Given the description of an element on the screen output the (x, y) to click on. 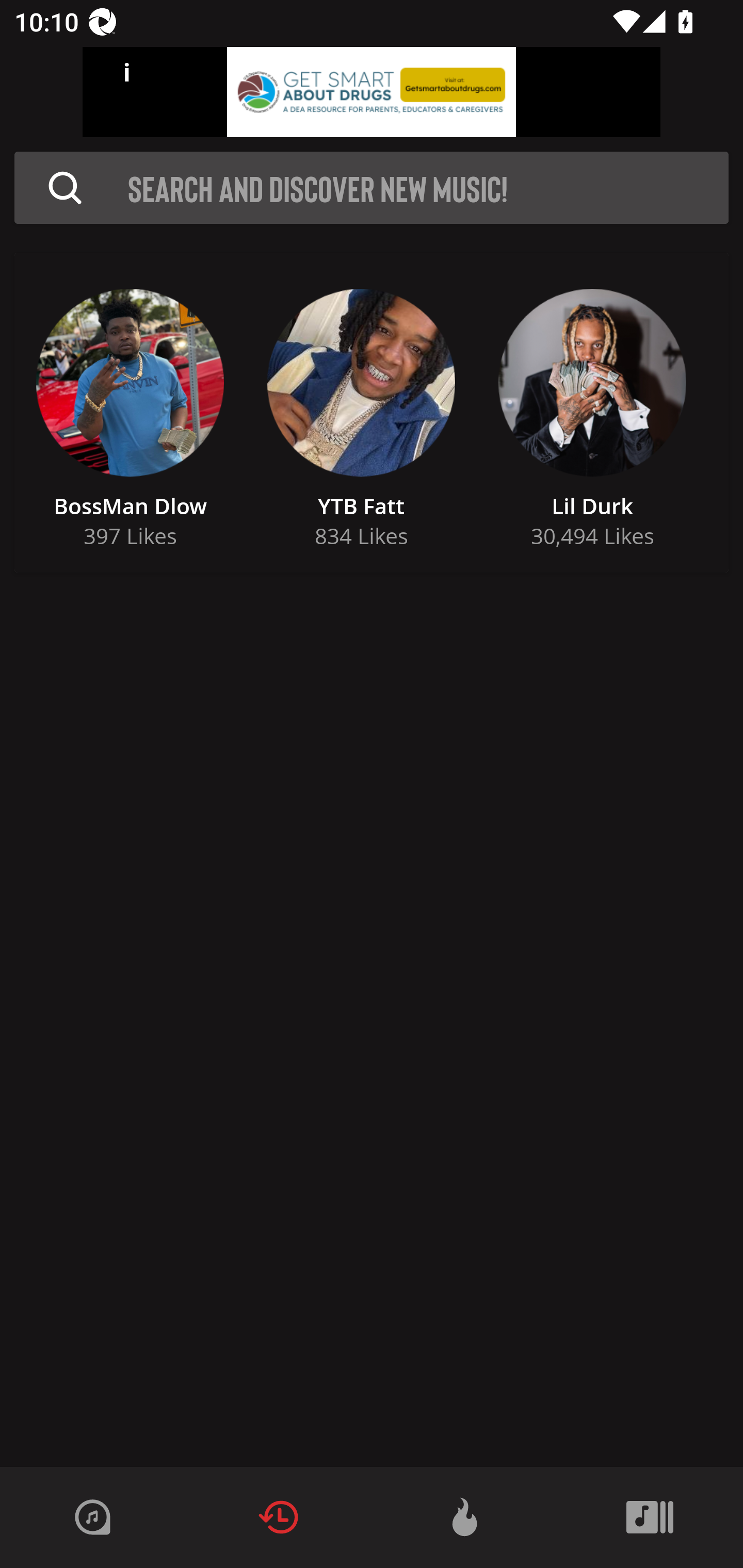
SEARCH AND DISCOVER NEW MUSIC! (427, 188)
Description (64, 188)
Description BossMan Dlow 397 Likes (129, 413)
Description YTB Fatt 834 Likes (360, 413)
Description Lil Durk 30,494 Likes (591, 413)
